Given the description of an element on the screen output the (x, y) to click on. 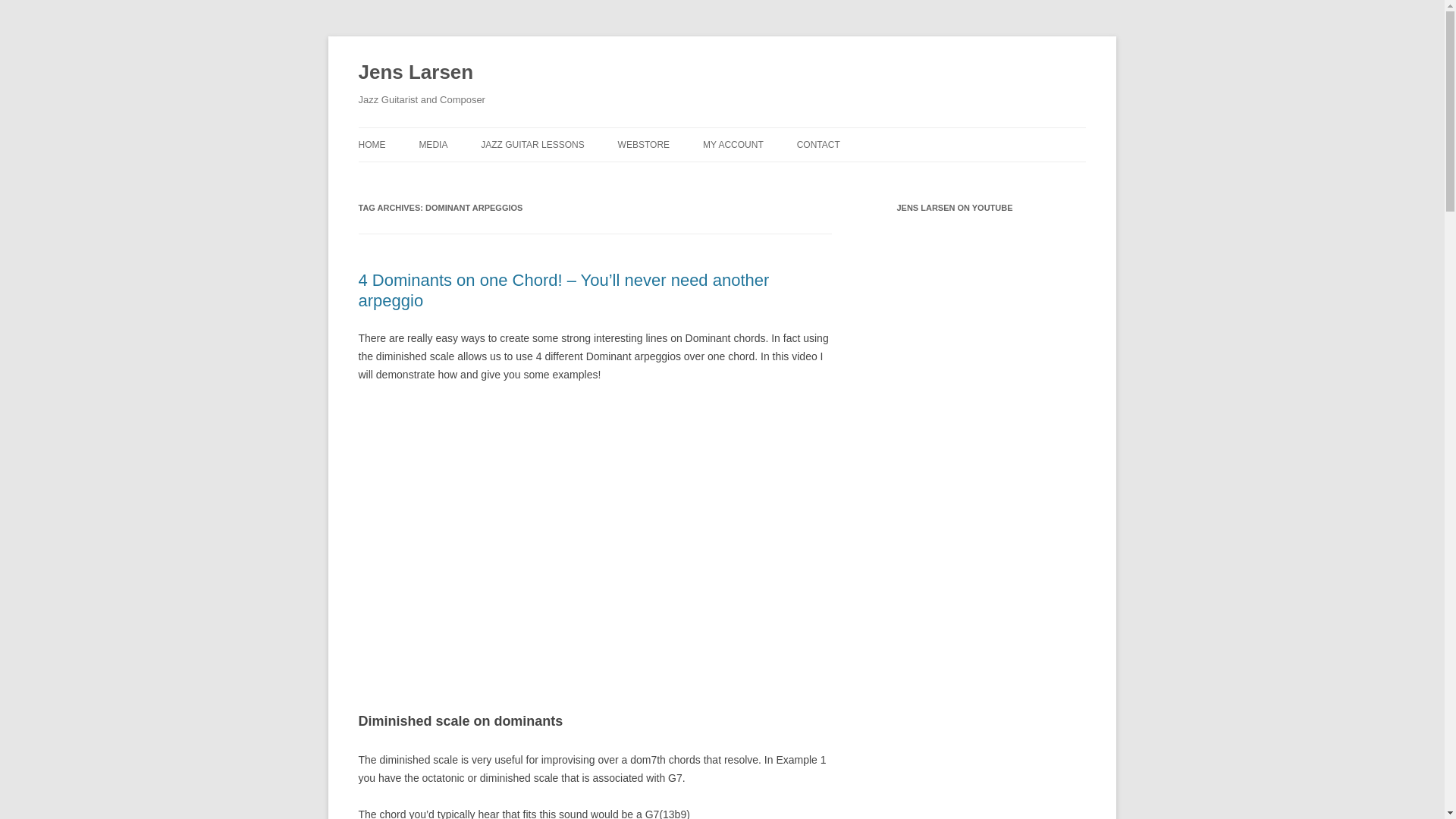
WEBSTORE (643, 144)
ONLINE LESSONS (555, 176)
CONTACT (818, 144)
MY ACCOUNT (732, 144)
Jens Larsen (415, 72)
JAZZ GUITAR LESSONS (531, 144)
Jens Larsen (415, 72)
CART (778, 176)
